Given the description of an element on the screen output the (x, y) to click on. 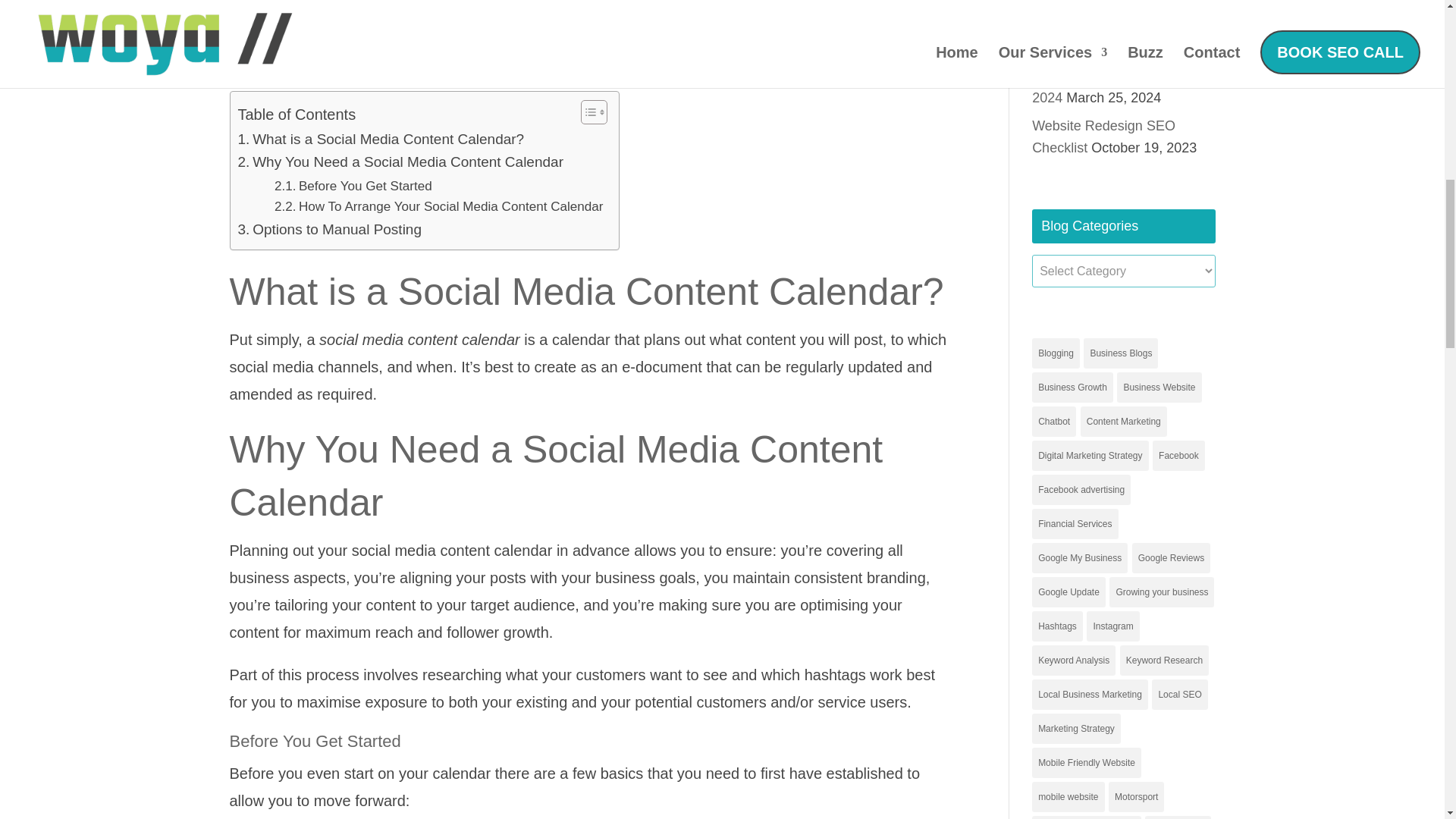
Why You Need a Social Media Content Calendar (400, 161)
What is a Social Media Content Calendar? (381, 138)
Options to Manual Posting (330, 229)
Options to Manual Posting (330, 229)
Before You Get Started (353, 186)
Before You Get Started (353, 186)
Why You Need a Social Media Content Calendar (400, 161)
How To Arrange Your Social Media Content Calendar (439, 206)
What is a Social Media Content Calendar? (381, 138)
How To Arrange Your Social Media Content Calendar (439, 206)
